Given the description of an element on the screen output the (x, y) to click on. 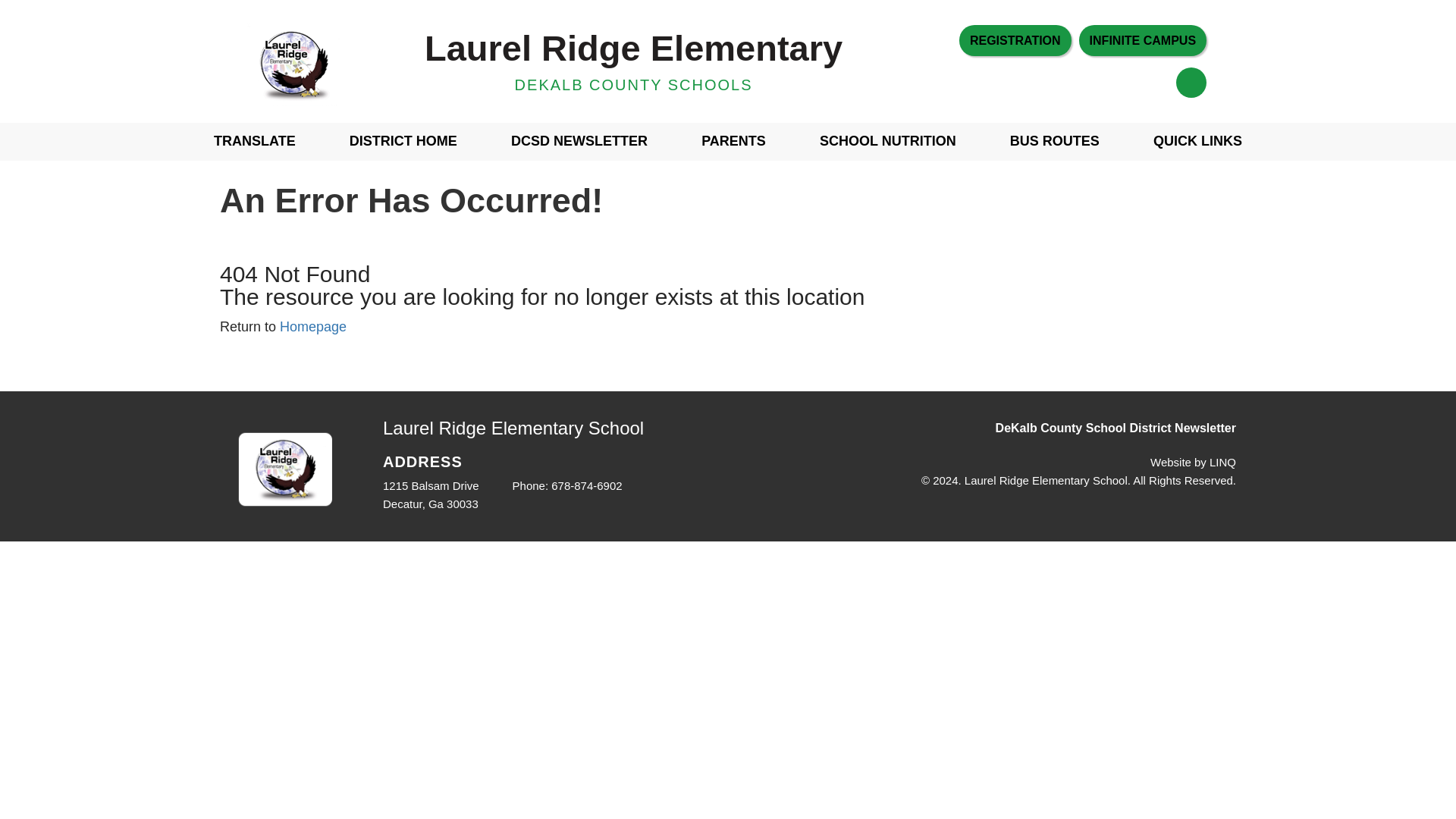
DCSD NEWSLETTER (578, 141)
DISTRICT HOME (403, 141)
QUICK LINKS (1197, 141)
REGISTRATION (1015, 40)
PARENTS (733, 141)
TRANSLATE (254, 141)
INFINITE CAMPUS (1142, 40)
Homepage (312, 326)
BUS ROUTES (1054, 141)
SCHOOL NUTRITION (886, 141)
